Given the description of an element on the screen output the (x, y) to click on. 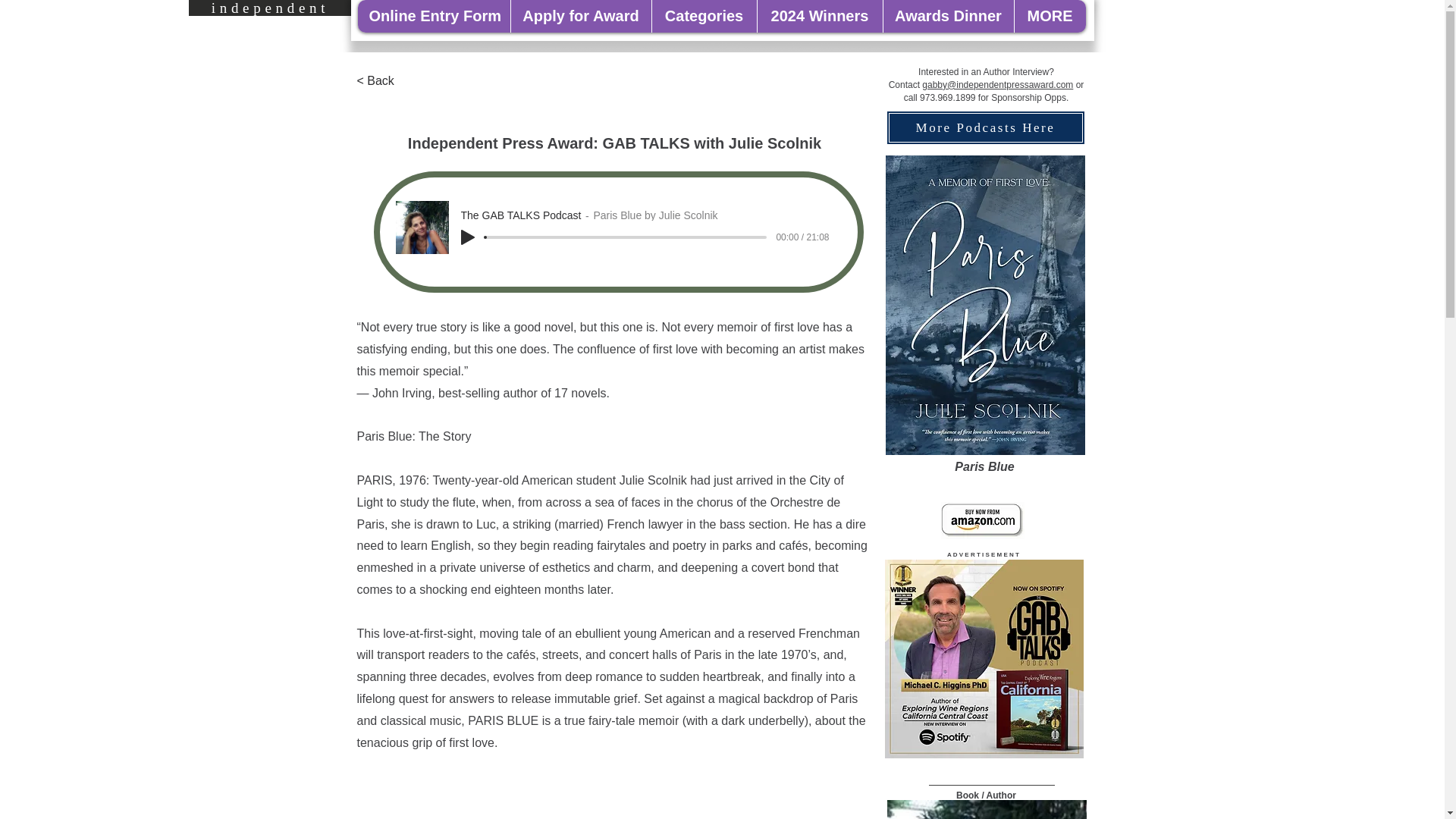
2024 Winners (819, 16)
Awards Dinner (947, 16)
Online Entry Form (434, 16)
Julie Scolnik photo.jpeg (986, 809)
Categories (702, 16)
independent press award (270, 16)
0 (625, 237)
